Given the description of an element on the screen output the (x, y) to click on. 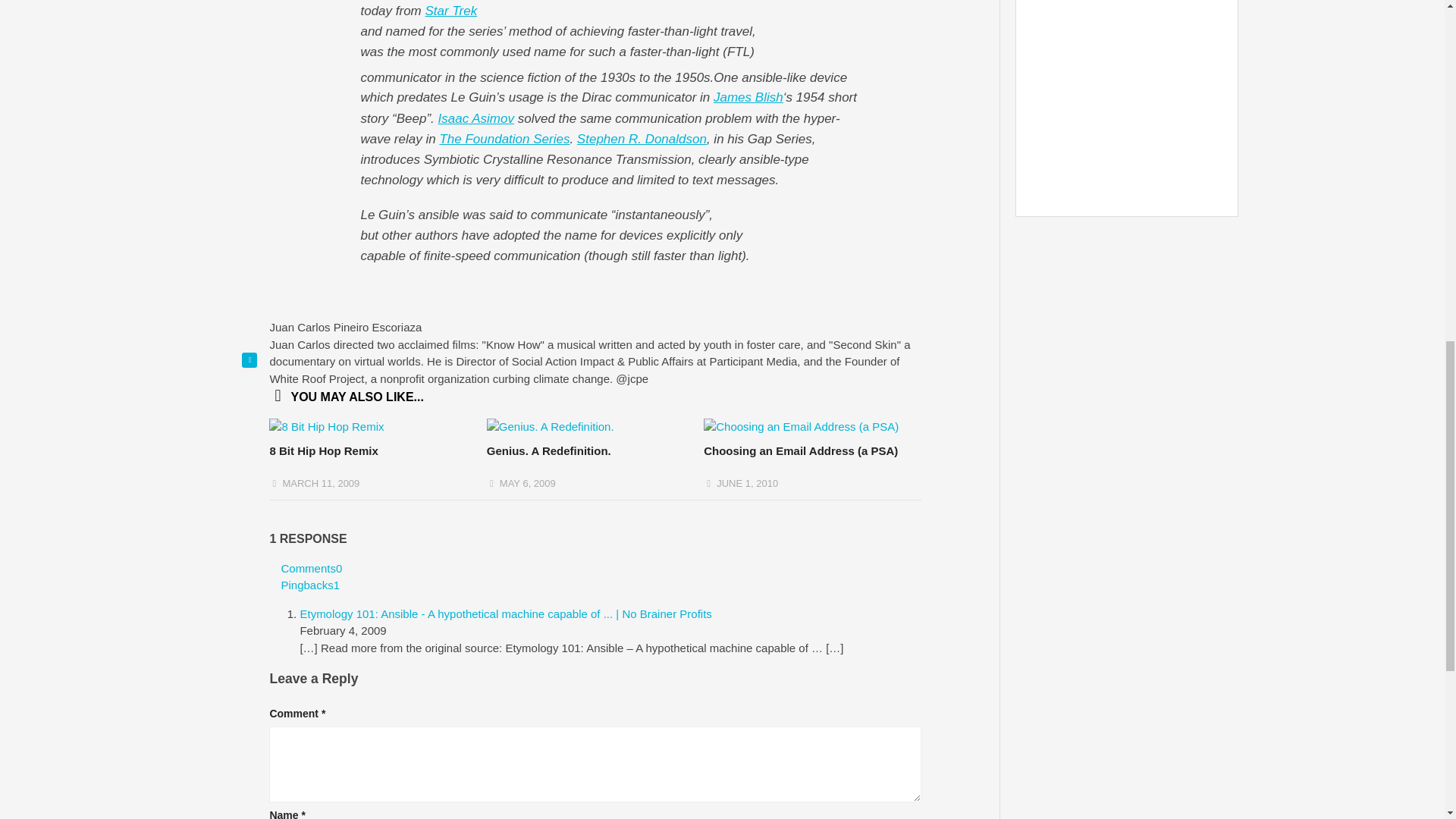
Stephen R. Donaldson (641, 138)
The Foundation Series (504, 138)
James Blish (748, 97)
Isaac Asimov (475, 118)
Star Trek (451, 11)
